Given the description of an element on the screen output the (x, y) to click on. 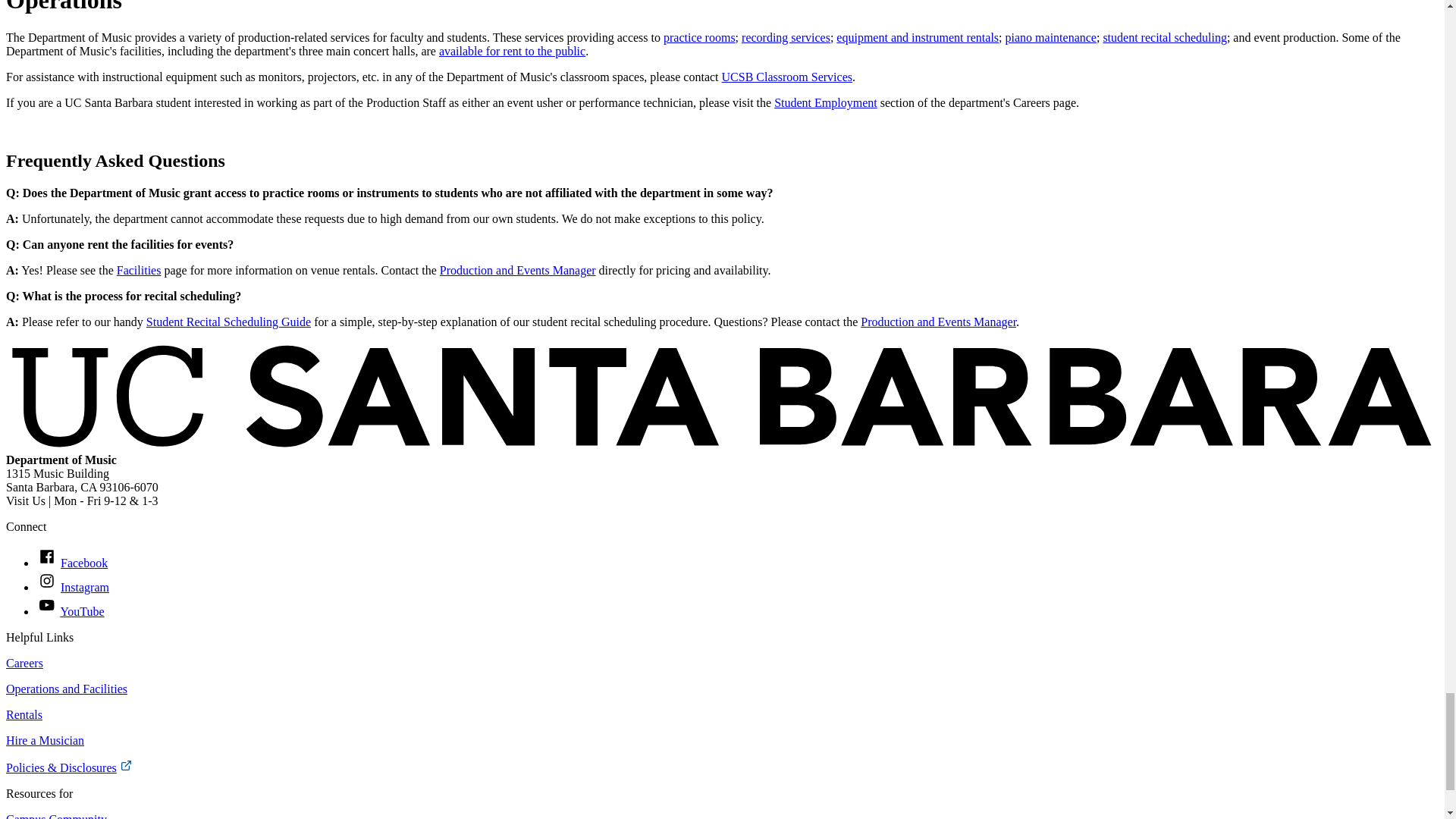
Piano Maintenance and Policies (1051, 37)
Staff Directory (517, 269)
Staff Directory (938, 321)
